Given the description of an element on the screen output the (x, y) to click on. 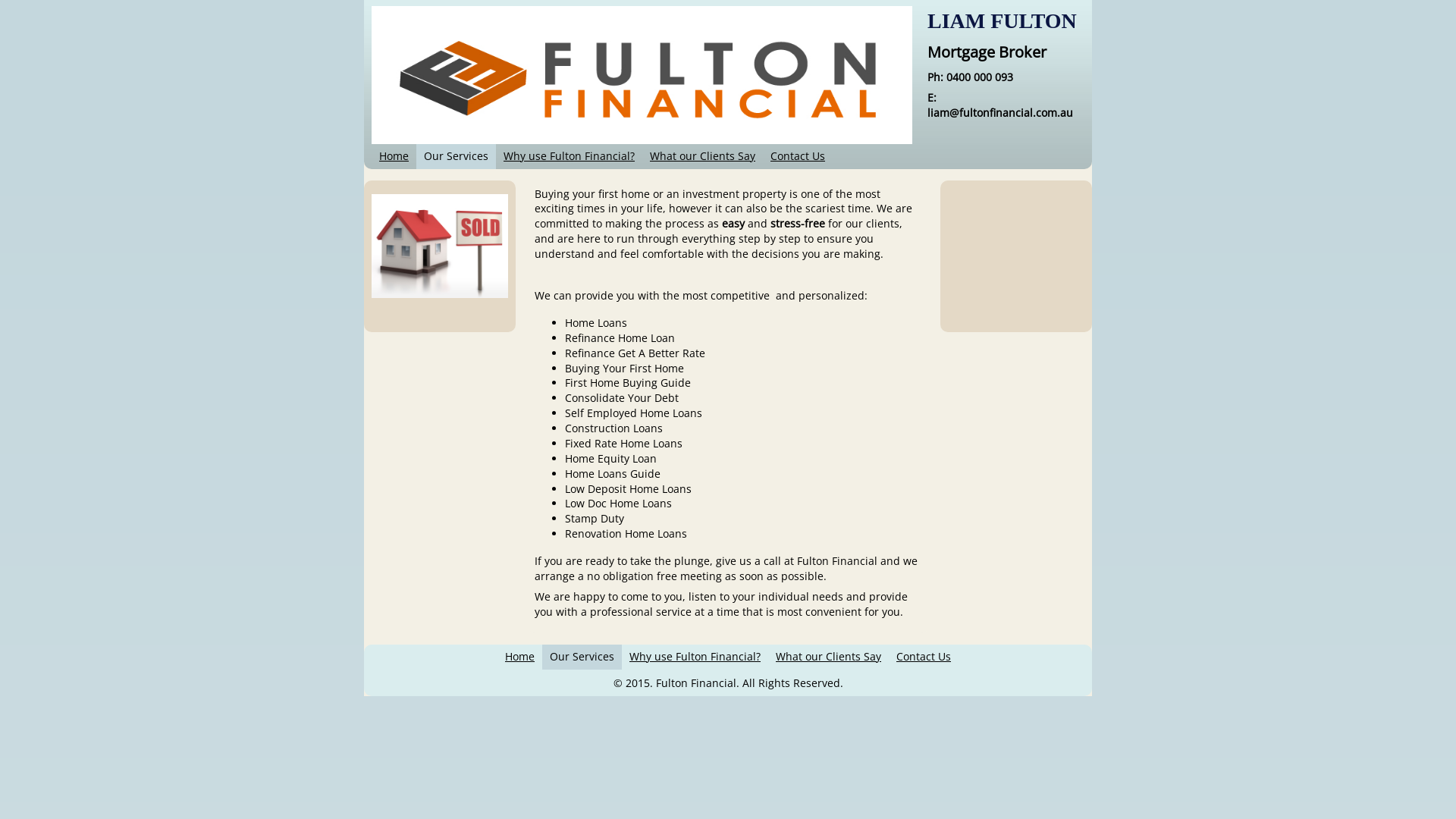
Our Services Element type: text (581, 656)
Home Element type: text (519, 656)
Why use Fulton Financial? Element type: text (568, 156)
Our Services Element type: text (455, 156)
Home Element type: text (393, 156)
Contact Us Element type: text (923, 656)
Contact Us Element type: text (797, 156)
Why use Fulton Financial? Element type: text (694, 656)
What our Clients Say Element type: text (702, 156)
What our Clients Say Element type: text (828, 656)
